Given the description of an element on the screen output the (x, y) to click on. 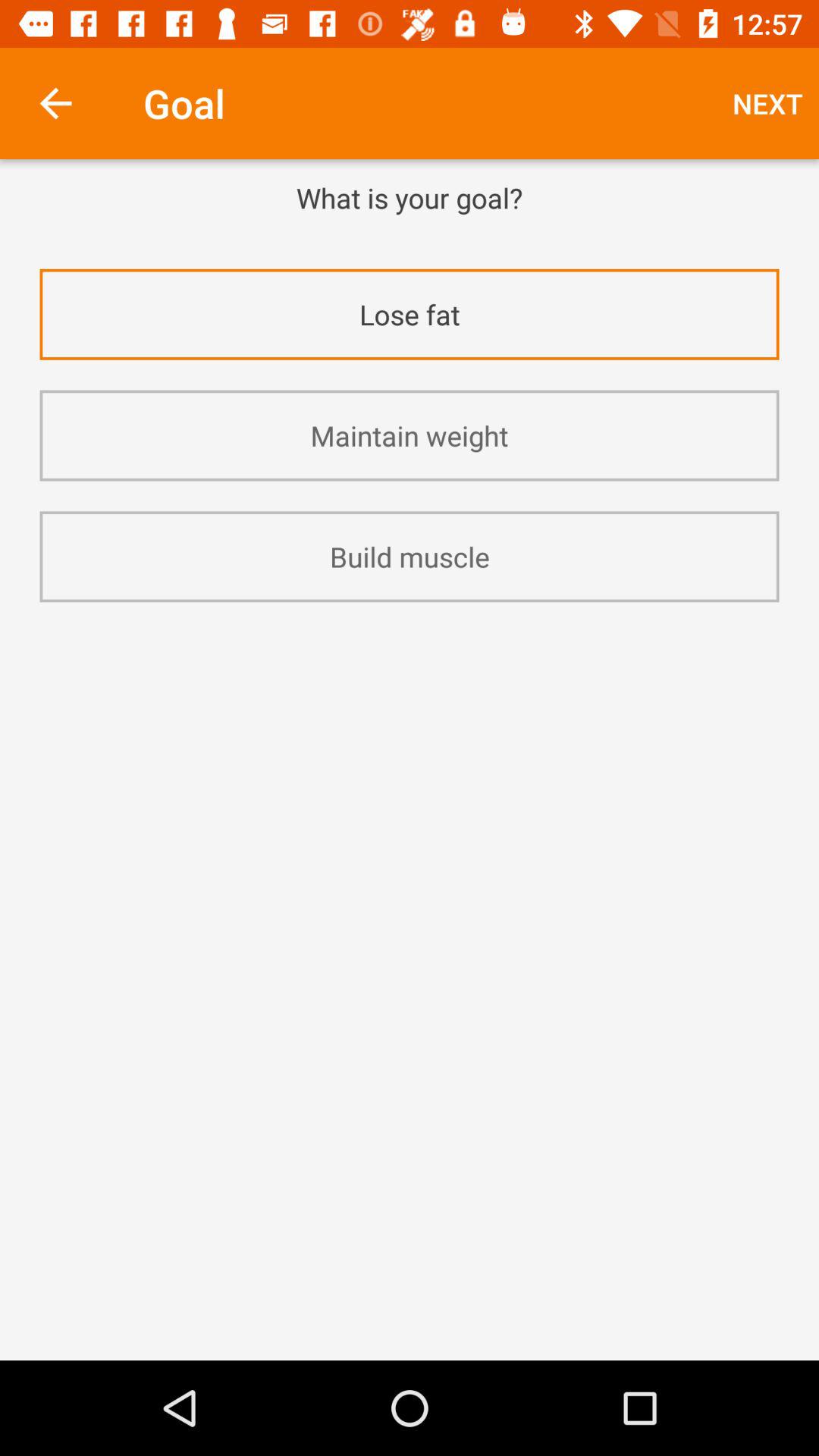
launch the next icon (767, 103)
